Given the description of an element on the screen output the (x, y) to click on. 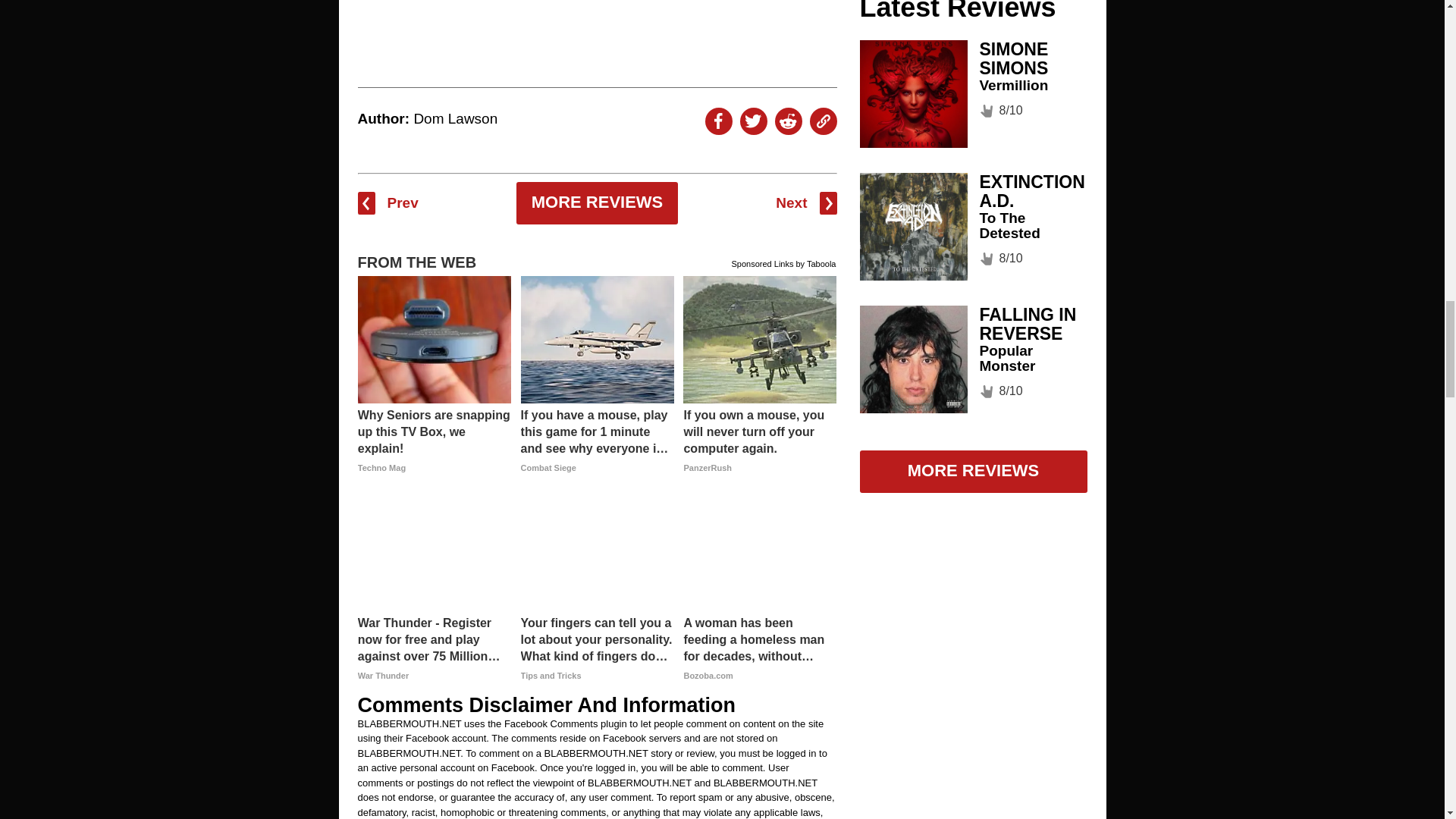
Share On Reddit (788, 121)
Share On Facebook (718, 121)
Copy To Clipboard (823, 121)
Prev (388, 201)
YouTube video player (597, 13)
by Taboola (814, 261)
Next (805, 201)
